Given the description of an element on the screen output the (x, y) to click on. 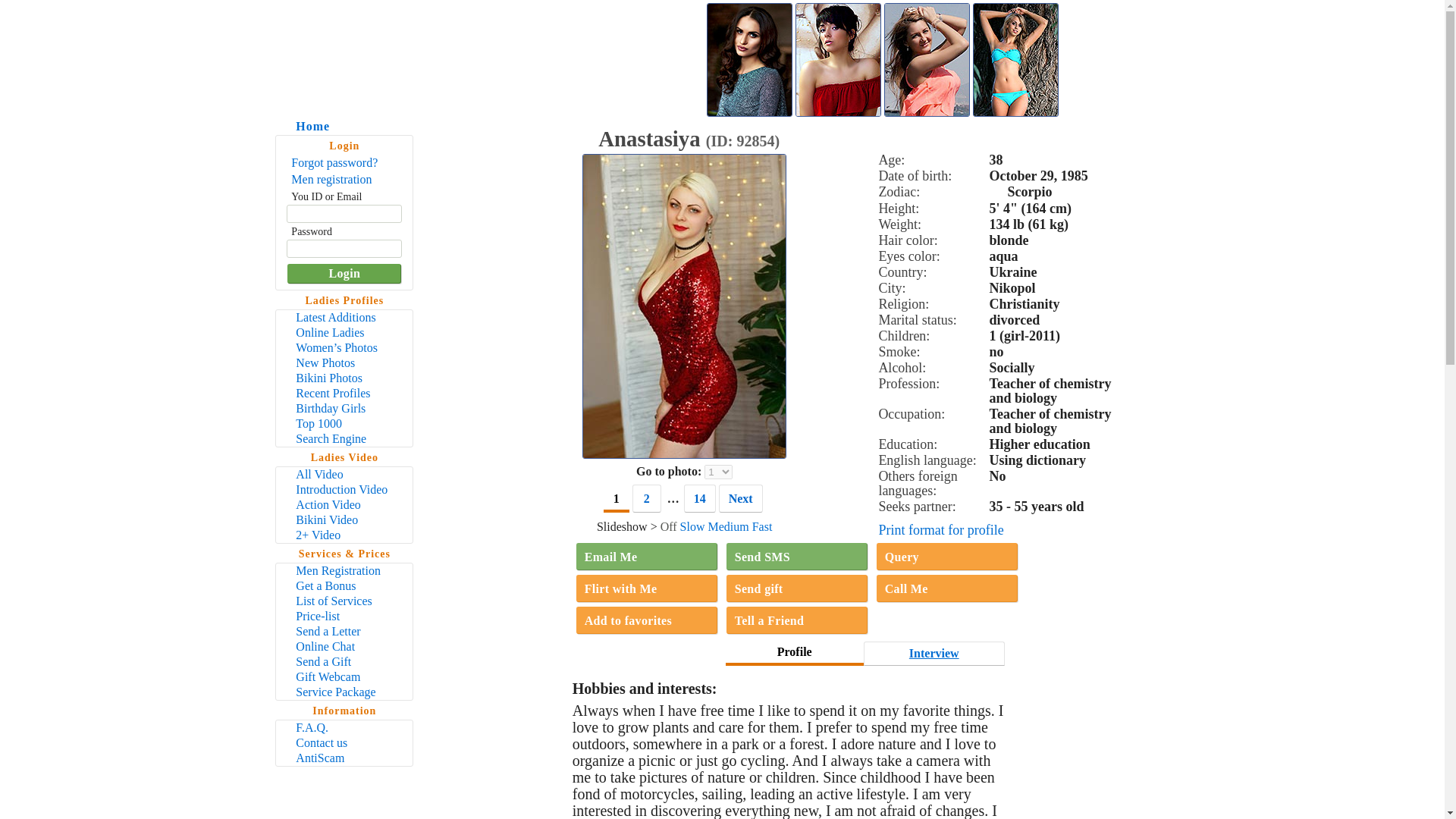
Contact us (344, 743)
Home (303, 125)
Online Chat (344, 646)
2 (646, 498)
Online Ladies (344, 332)
Send gift (796, 587)
Price-list (344, 616)
Login (343, 273)
Introduction Video (344, 489)
Send SMS (796, 556)
